Given the description of an element on the screen output the (x, y) to click on. 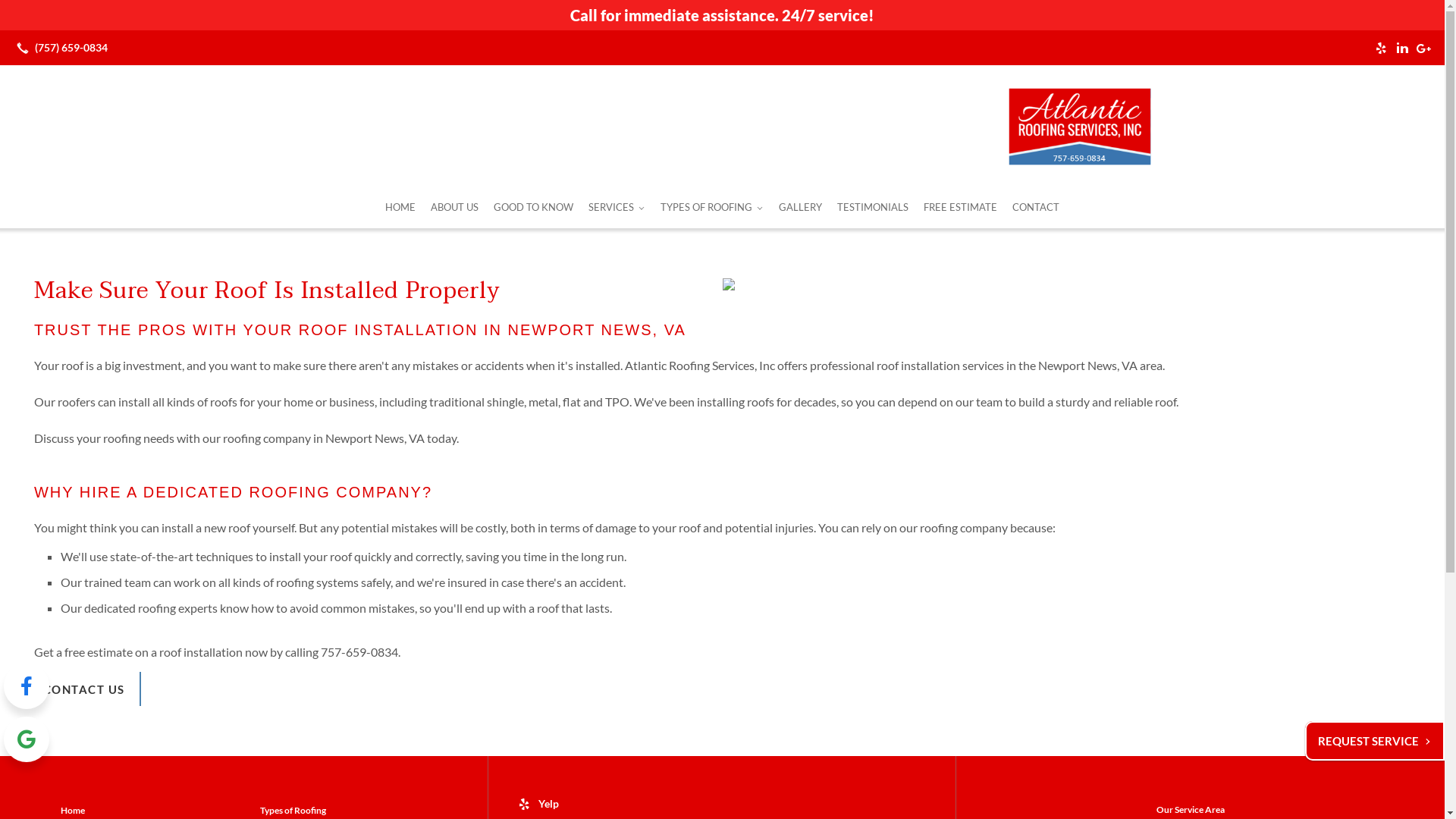
LinkedIn Element type: hover (1401, 47)
FREE ESTIMATE Element type: text (960, 207)
TESTIMONIALS Element type: text (872, 207)
REQUEST SERVICE Element type: text (1374, 740)
Yelp Element type: hover (1380, 47)
Yelp Element type: hover (537, 802)
Google Element type: hover (1423, 47)
GOOD TO KNOW Element type: text (533, 207)
ABOUT US Element type: text (454, 207)
(757) 659-0834 Element type: hover (58, 47)
HOME Element type: text (400, 207)
Call for immediate assistance. 24/7 service! Element type: text (722, 15)
GALLERY Element type: text (800, 207)
CONTACT Element type: text (1035, 207)
CONTACT US Element type: text (84, 689)
